Given the description of an element on the screen output the (x, y) to click on. 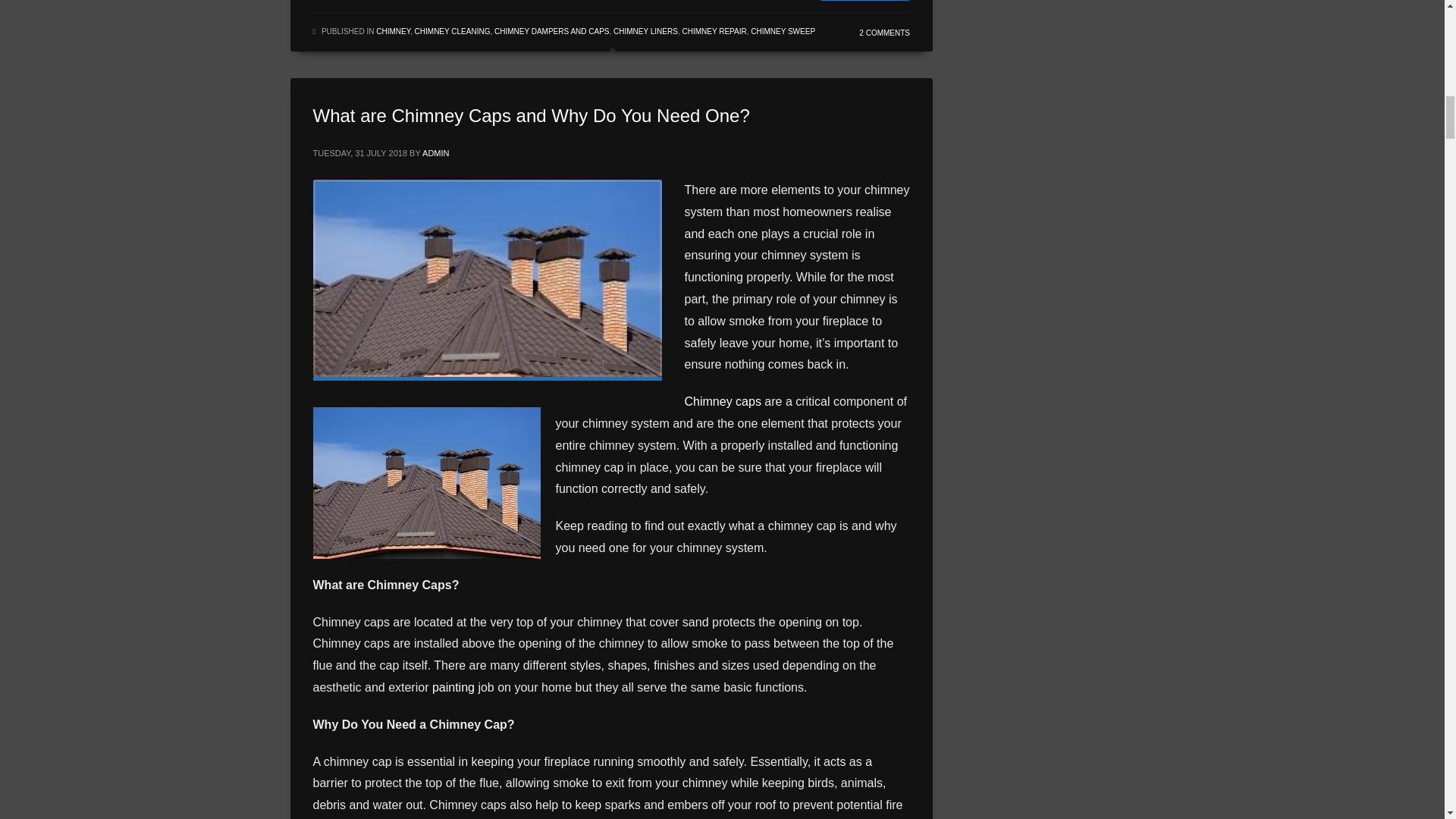
CHIMNEY CLEANING (452, 31)
4 chimneys (487, 277)
CHIMNEY REPAIR (713, 31)
2 COMMENTS (884, 32)
CHIMNEY (392, 31)
CHIMNEY SWEEP (783, 31)
ADMIN (435, 153)
Posts by Admin (435, 153)
CHIMNEY LINERS (645, 31)
